Given the description of an element on the screen output the (x, y) to click on. 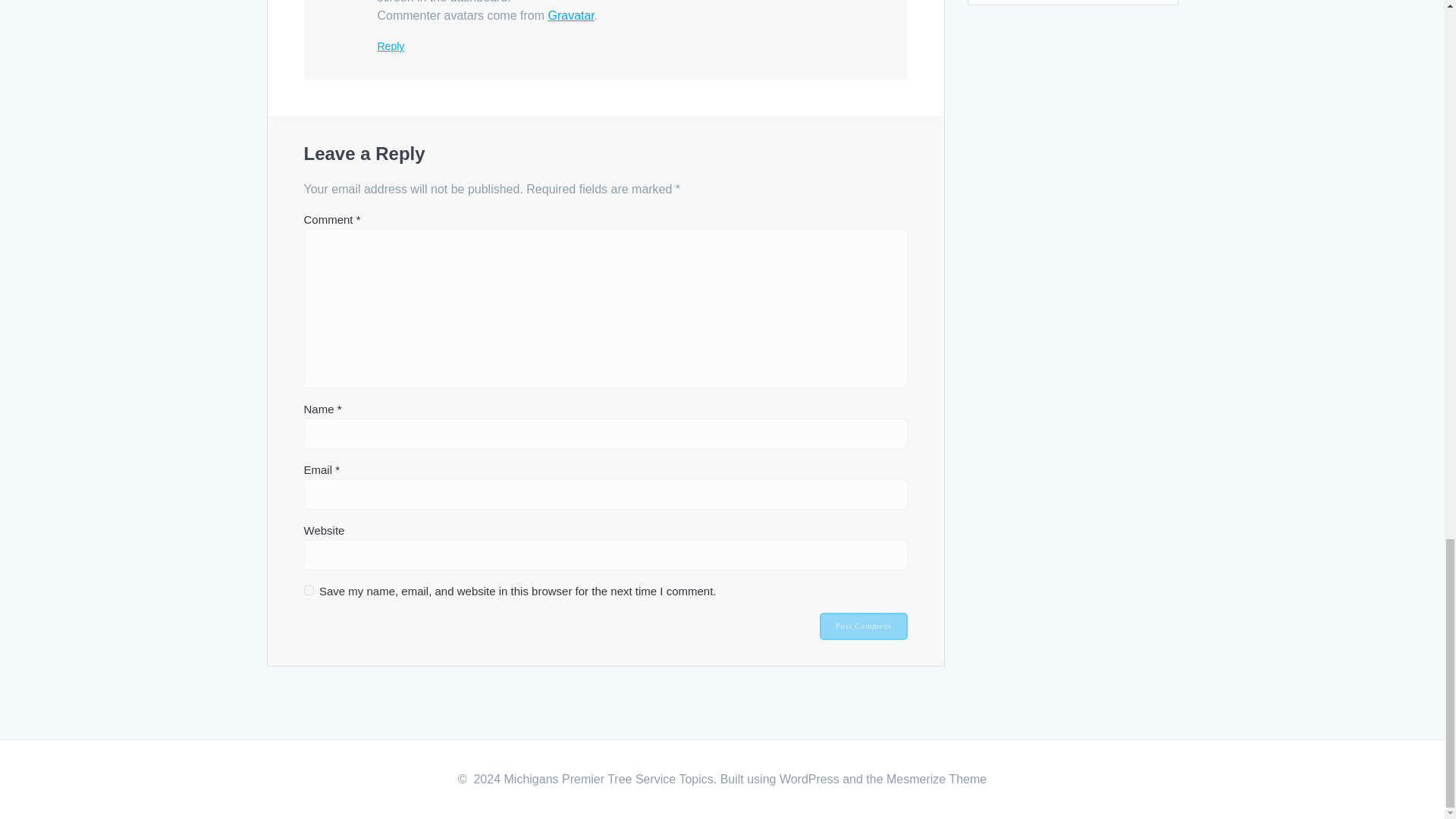
Mesmerize Theme (936, 779)
Post Comment (863, 625)
Gravatar (570, 15)
Reply (390, 46)
Post Comment (863, 625)
yes (307, 590)
